Given the description of an element on the screen output the (x, y) to click on. 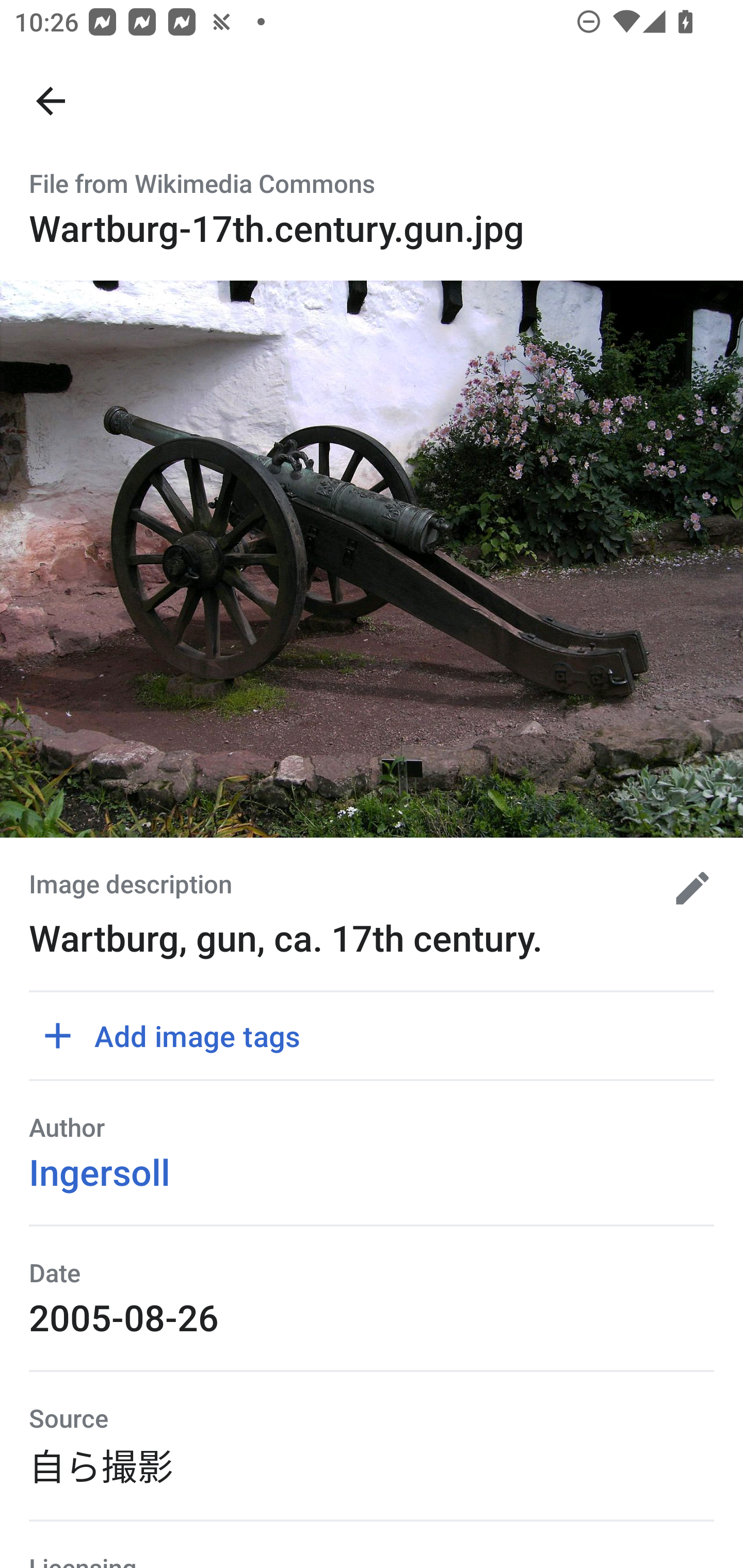
Navigate up (50, 101)
Edit Image description (685, 888)
Add image tags (178, 1035)
